Given the description of an element on the screen output the (x, y) to click on. 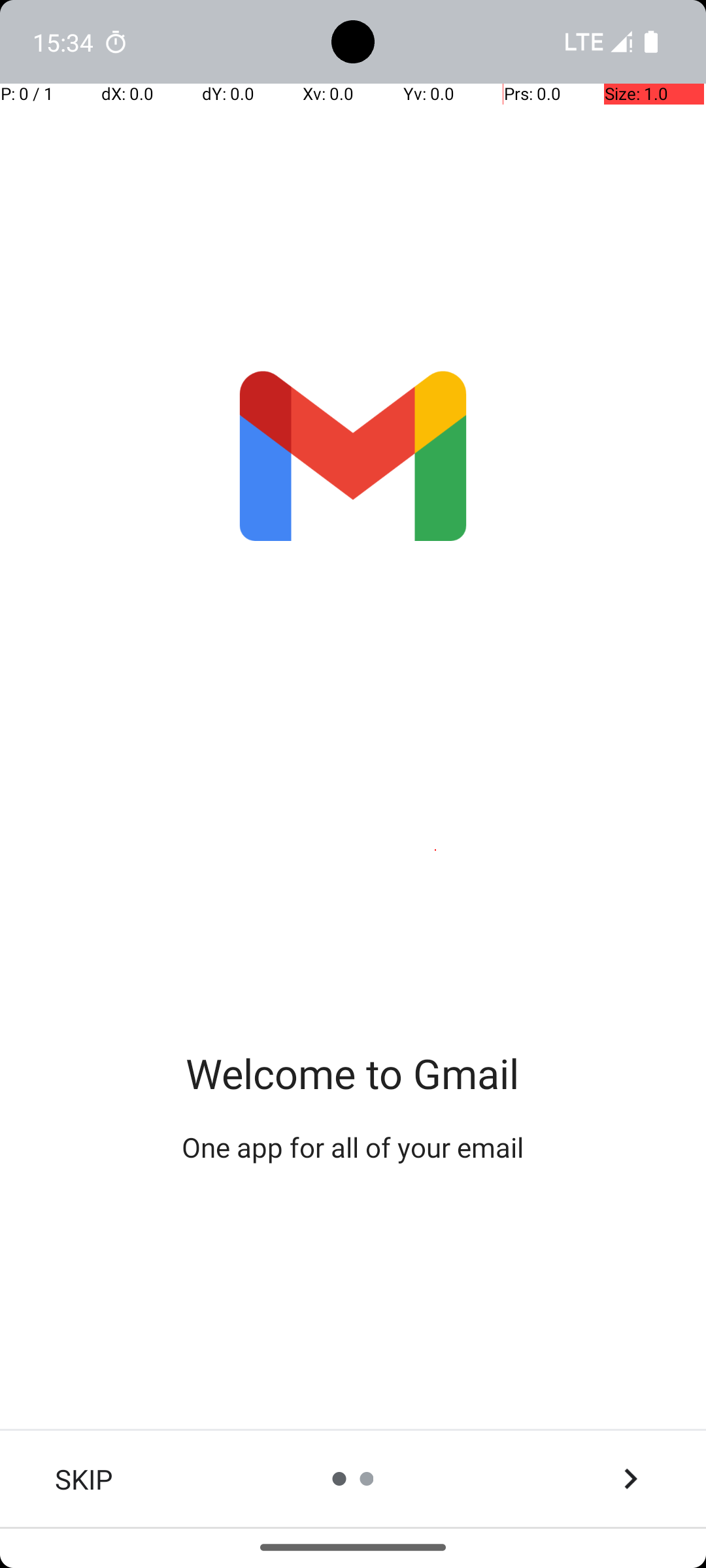
SKIP Element type: android.widget.TextView (83, 1478)
Welcome to Gmail Element type: android.widget.TextView (352, 1072)
One app for all of your email Element type: android.widget.TextView (352, 1146)
